Given the description of an element on the screen output the (x, y) to click on. 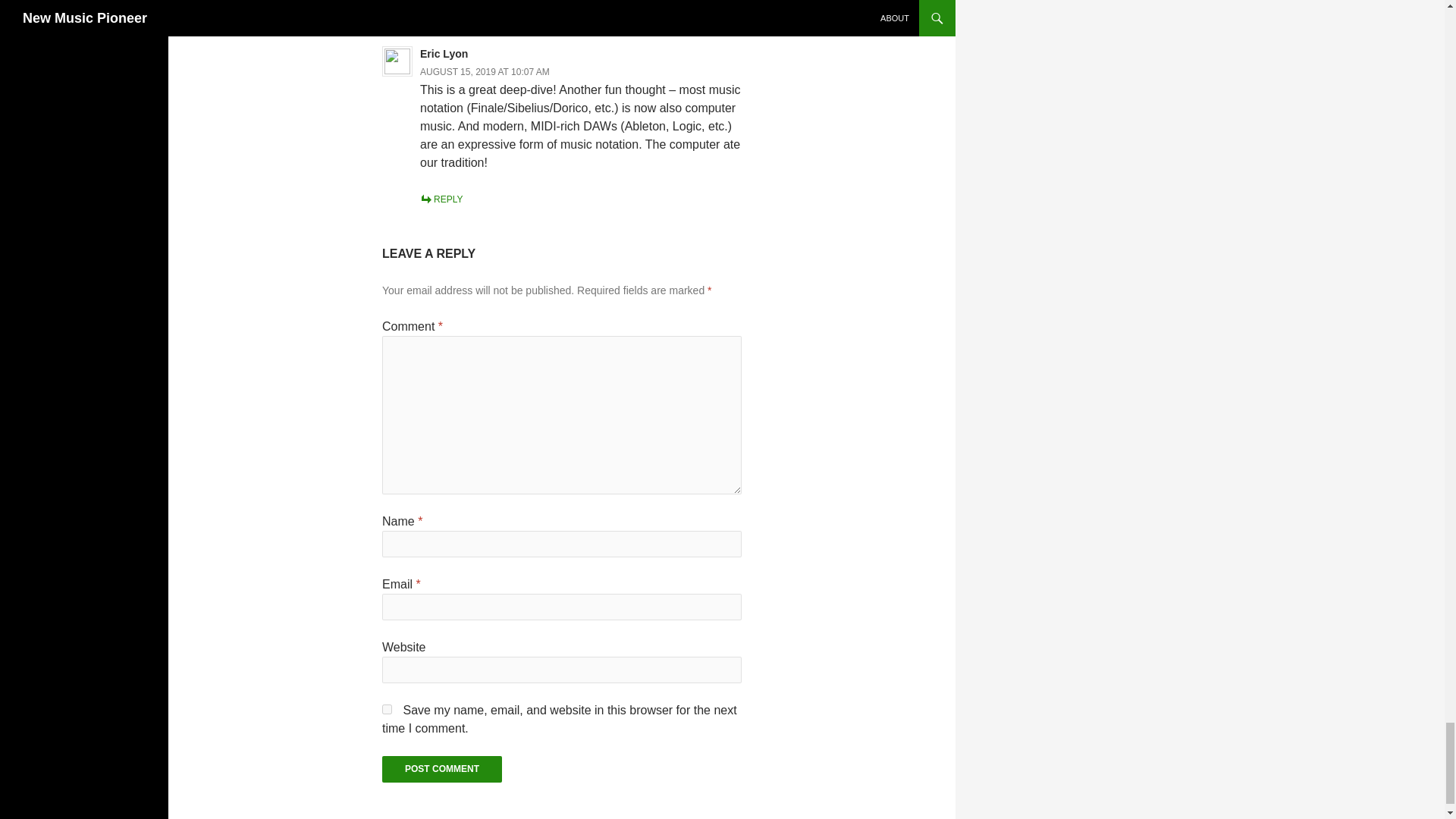
REPLY (441, 199)
AUGUST 15, 2019 AT 10:07 AM (485, 71)
Post Comment (441, 768)
Post Comment (441, 768)
yes (386, 709)
